Given the description of an element on the screen output the (x, y) to click on. 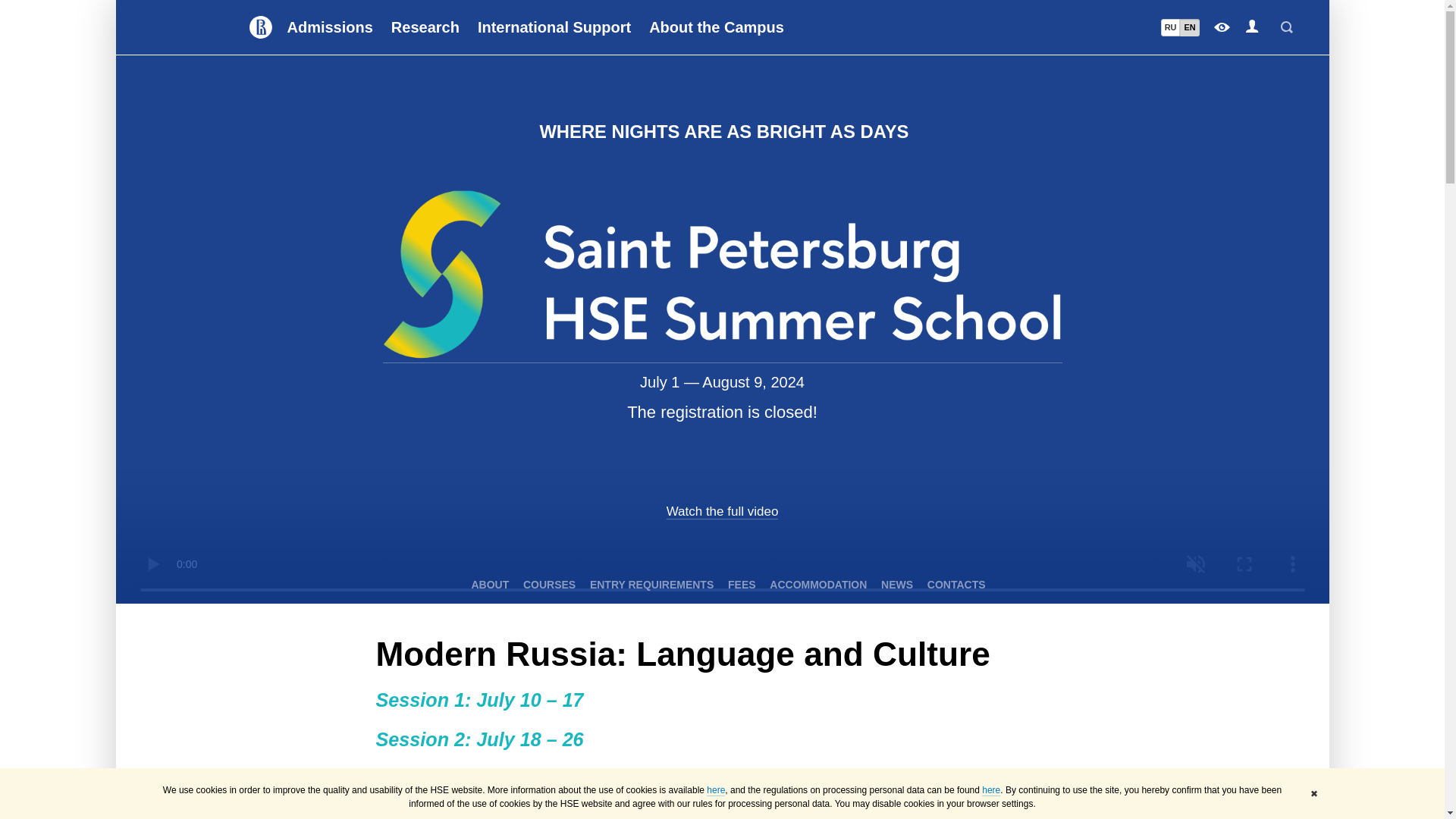
here (990, 790)
International Support (553, 27)
Research (425, 27)
Search (1286, 27)
About the Campus (716, 27)
Admissions (329, 27)
here (715, 790)
